Given the description of an element on the screen output the (x, y) to click on. 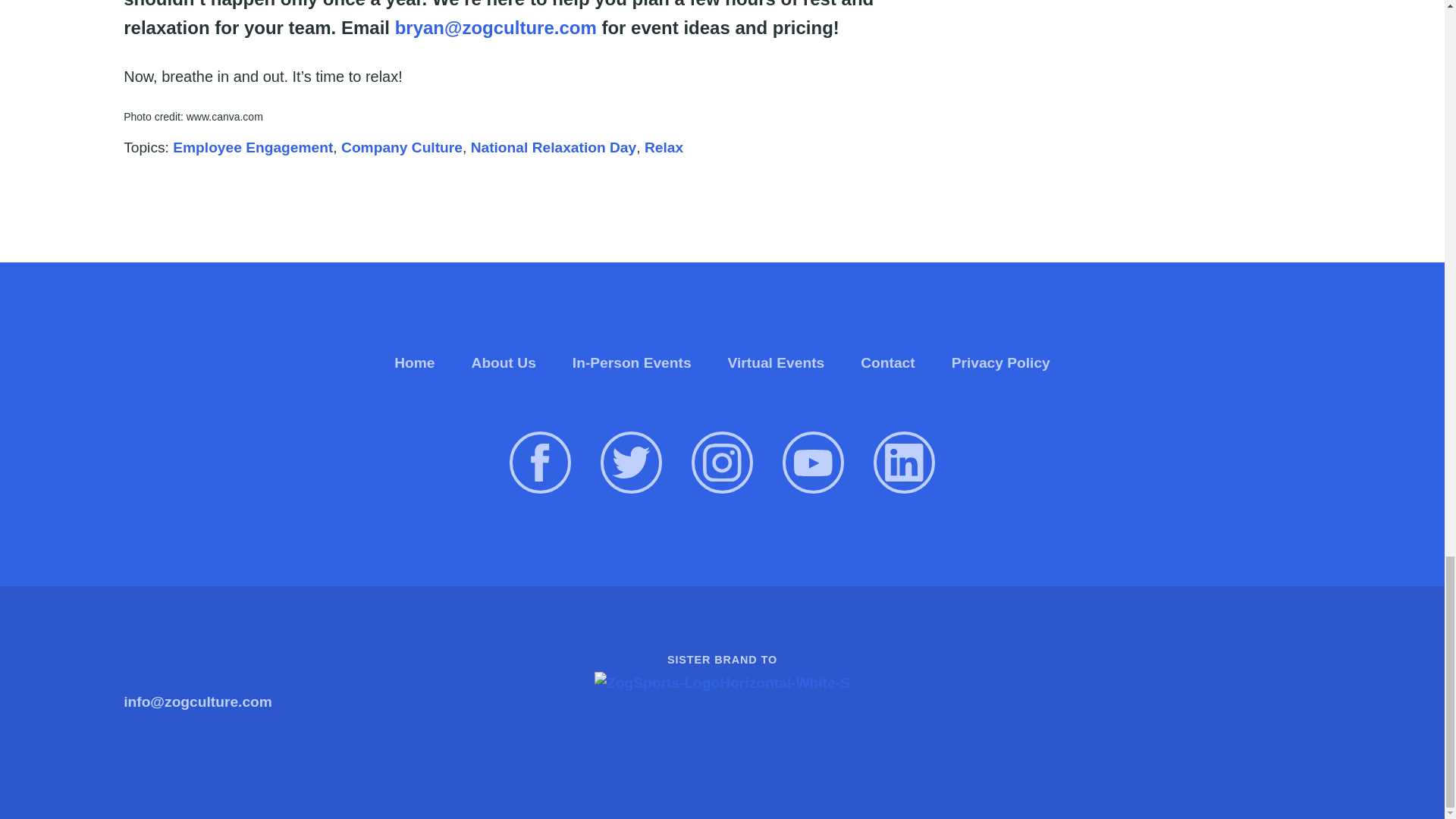
Company Culture (401, 147)
Relax (663, 147)
In-Person Events (632, 361)
Employee Engagement (253, 147)
Home (413, 361)
About Us (503, 361)
Contact (888, 361)
Virtual Events (776, 361)
National Relaxation Day (553, 147)
Privacy Policy (1000, 361)
